Given the description of an element on the screen output the (x, y) to click on. 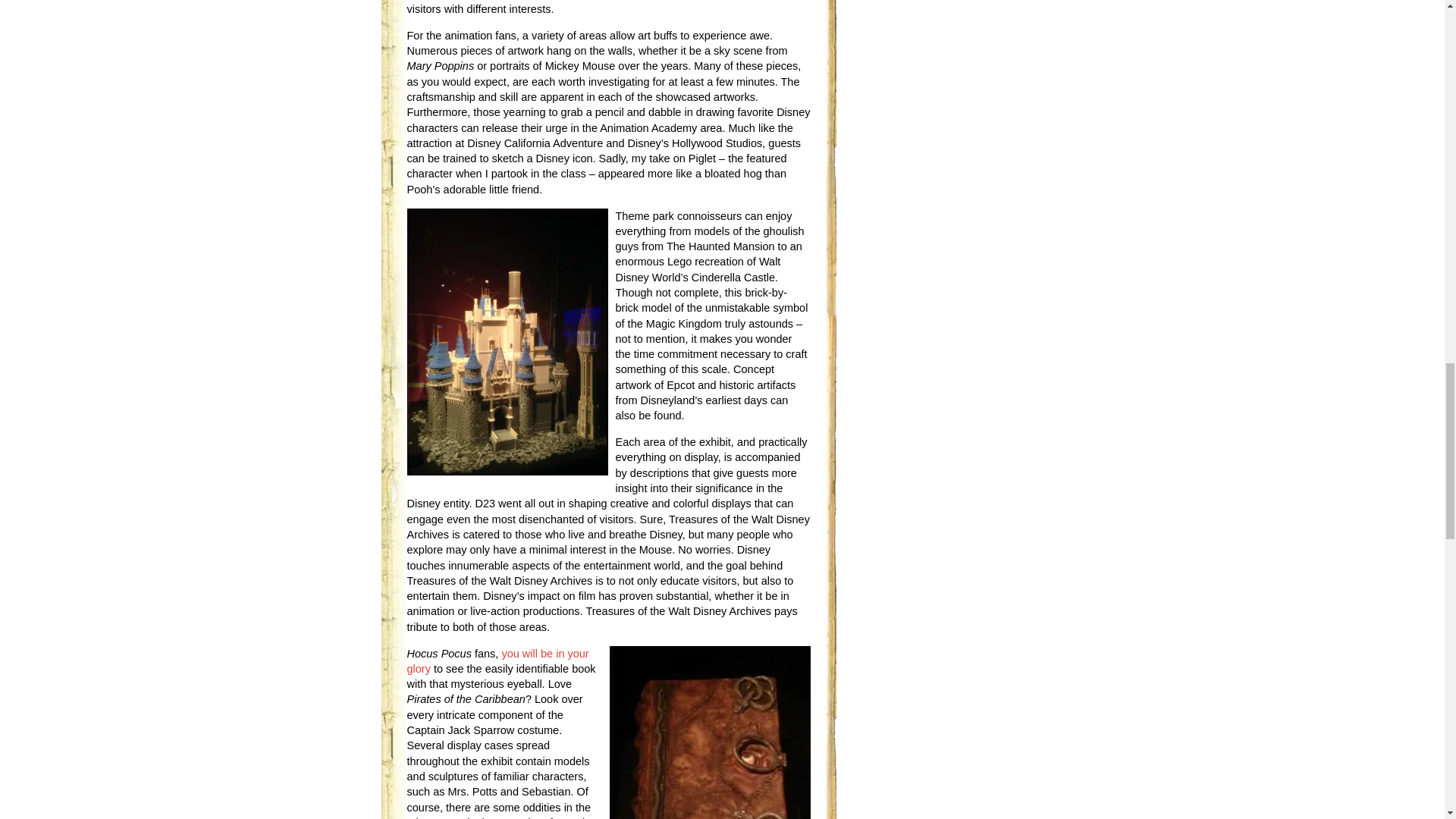
Disney In Depth: 13  (497, 660)
you will be in your glory (497, 660)
